Given the description of an element on the screen output the (x, y) to click on. 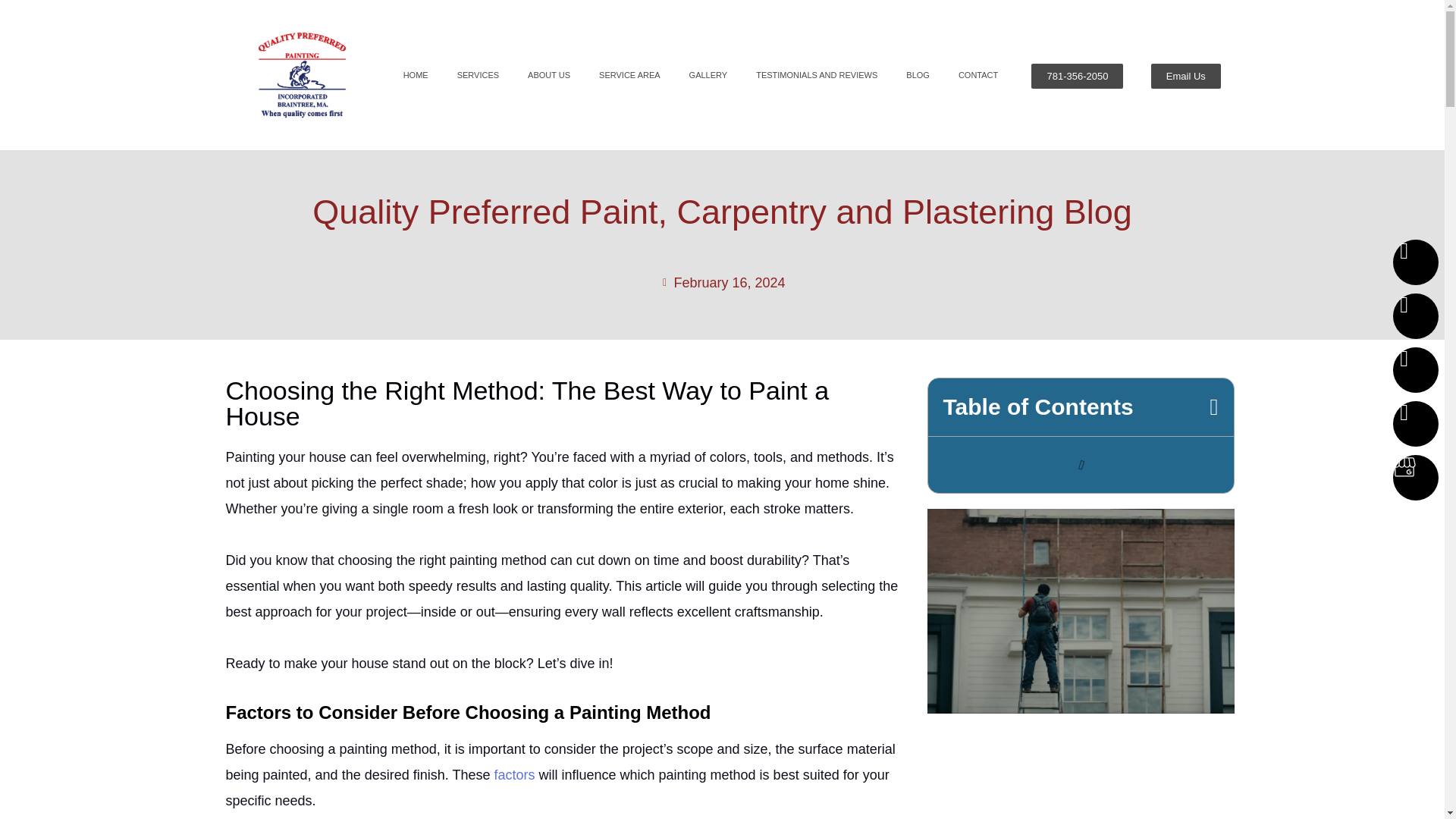
GALLERY (708, 74)
781-356-2050 (1076, 75)
TESTIMONIALS AND REVIEWS (816, 74)
BLOG (917, 74)
ABOUT US (549, 74)
Email Us (1186, 75)
CONTACT (977, 74)
HOME (415, 74)
SERVICES (477, 74)
SERVICE AREA (630, 74)
